Given the description of an element on the screen output the (x, y) to click on. 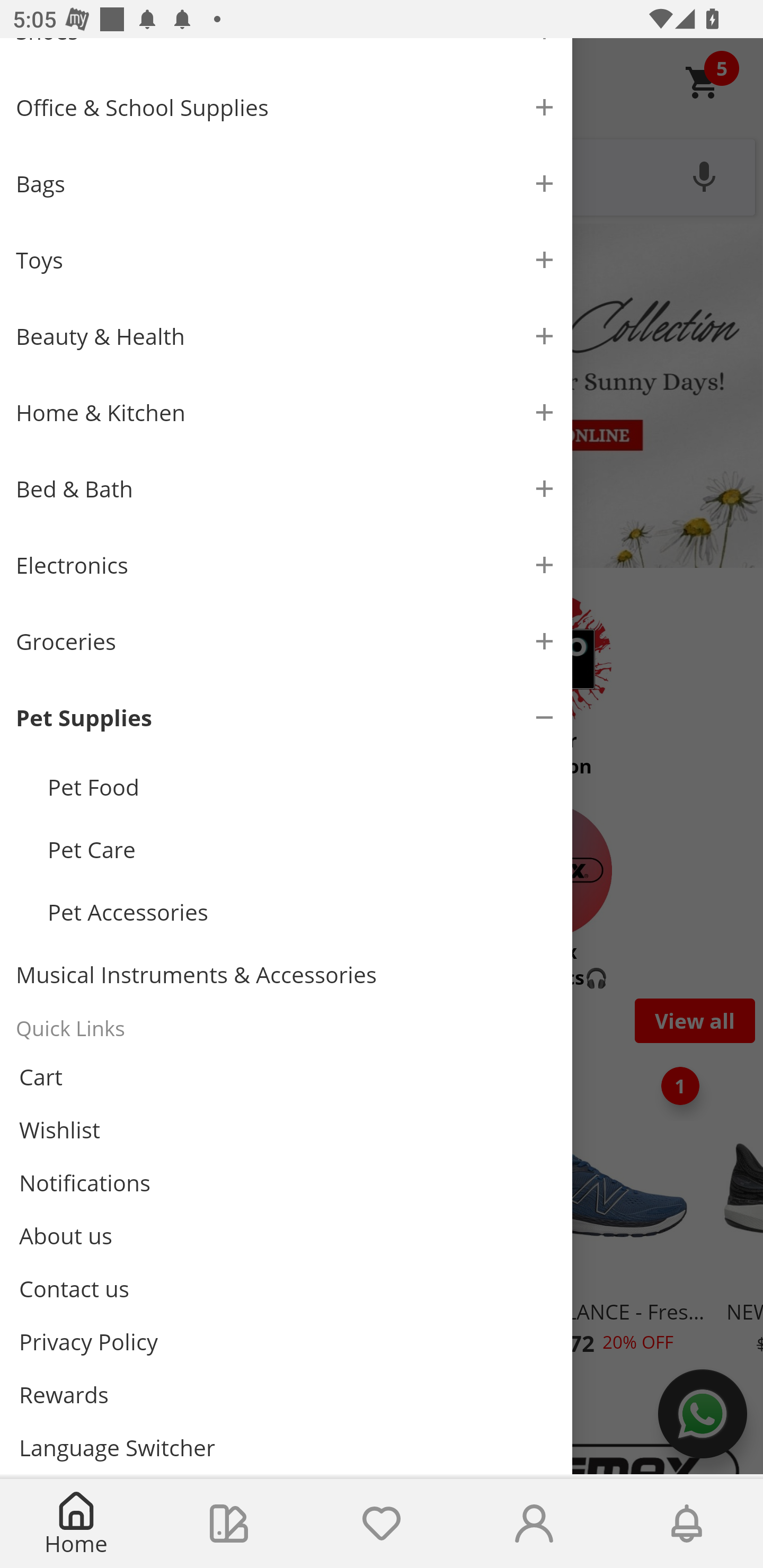
Office & School Supplies (286, 106)
Bags (286, 183)
Toys (286, 259)
Beauty & Health (286, 335)
Home & Kitchen (286, 412)
Bed & Bath (286, 488)
Electronics (286, 564)
Groceries (286, 640)
Pet Supplies Pet Food Pet Care Pet Accessories (286, 810)
Pet Food (302, 786)
Pet Care (302, 849)
Pet Accessories (302, 912)
Musical Instruments & Accessories (286, 974)
Cart (286, 1076)
Wishlist (286, 1130)
Notifications (286, 1182)
About us (286, 1235)
Contact us (286, 1288)
Privacy Policy (286, 1341)
Rewards (286, 1394)
Language Switcher (286, 1446)
Collections (228, 1523)
Wishlist (381, 1523)
Account (533, 1523)
Notifications (686, 1523)
